Given the description of an element on the screen output the (x, y) to click on. 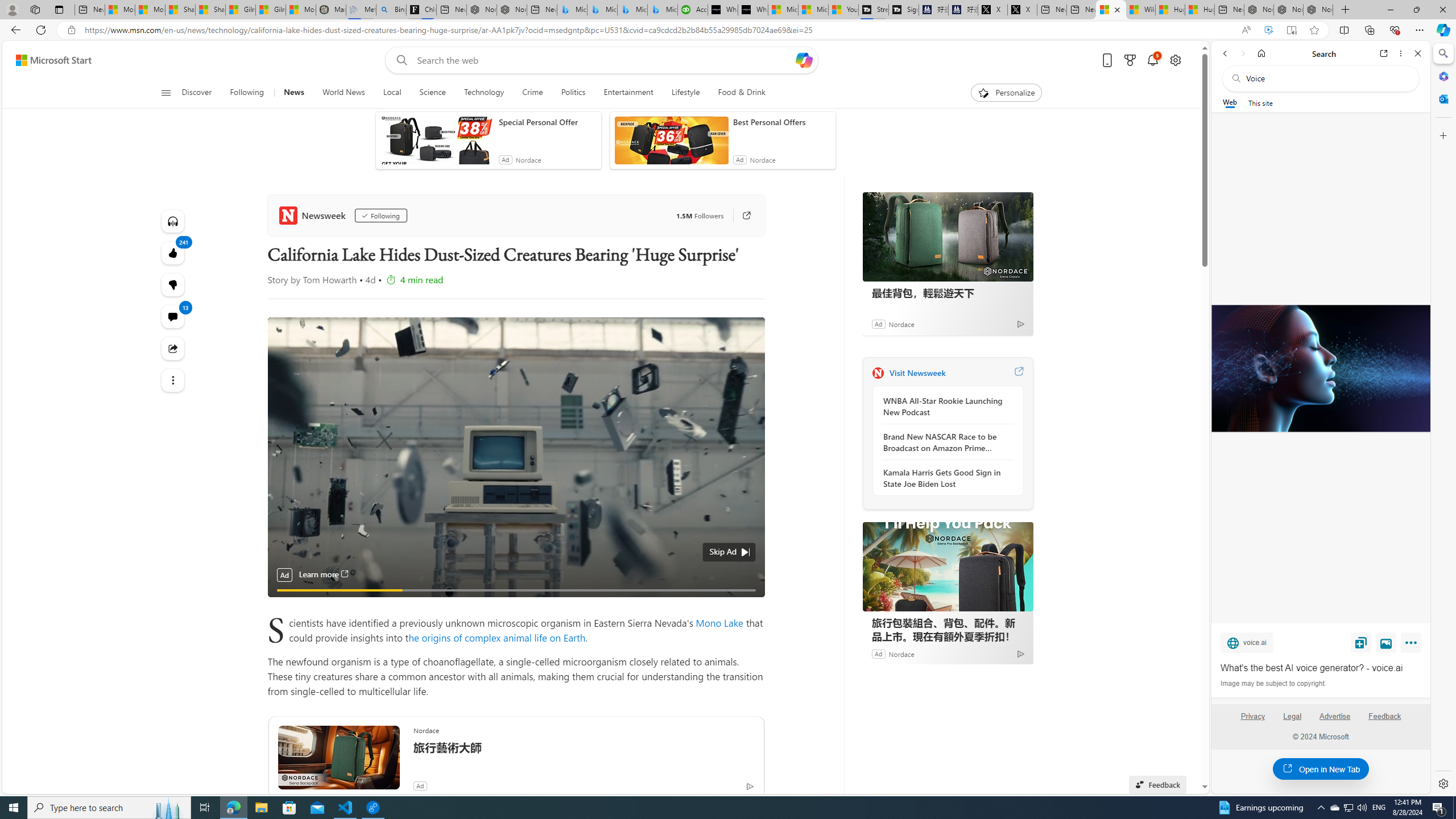
This site scope (1259, 102)
Legal (1291, 715)
Politics (572, 92)
Advertise (1334, 720)
Microsoft Bing Travel - Shangri-La Hotel Bangkok (662, 9)
Side bar (1443, 418)
Personalize (1006, 92)
